Given the description of an element on the screen output the (x, y) to click on. 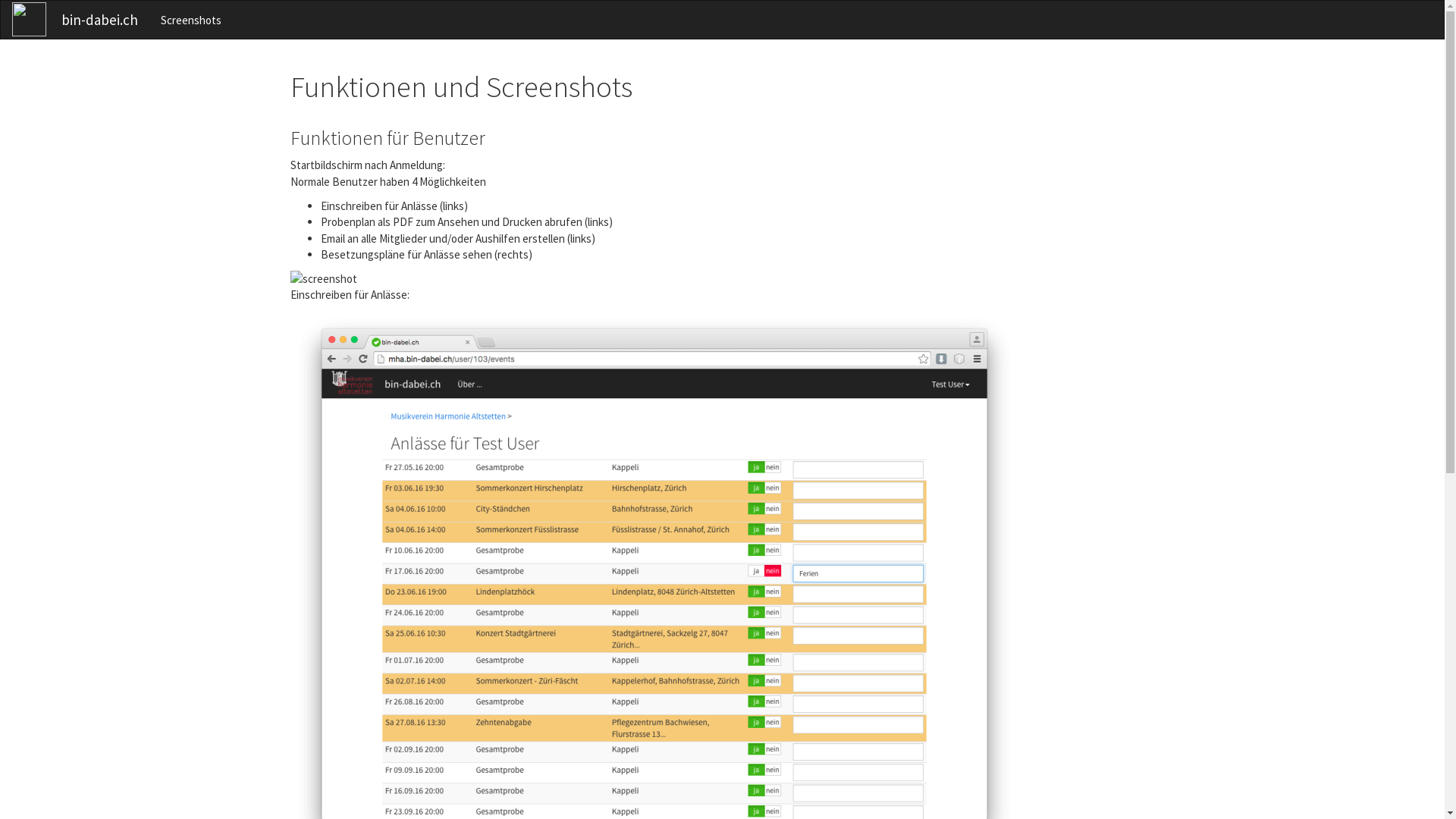
Screenshots Element type: text (190, 19)
bin-dabei.ch Element type: text (99, 19)
